Given the description of an element on the screen output the (x, y) to click on. 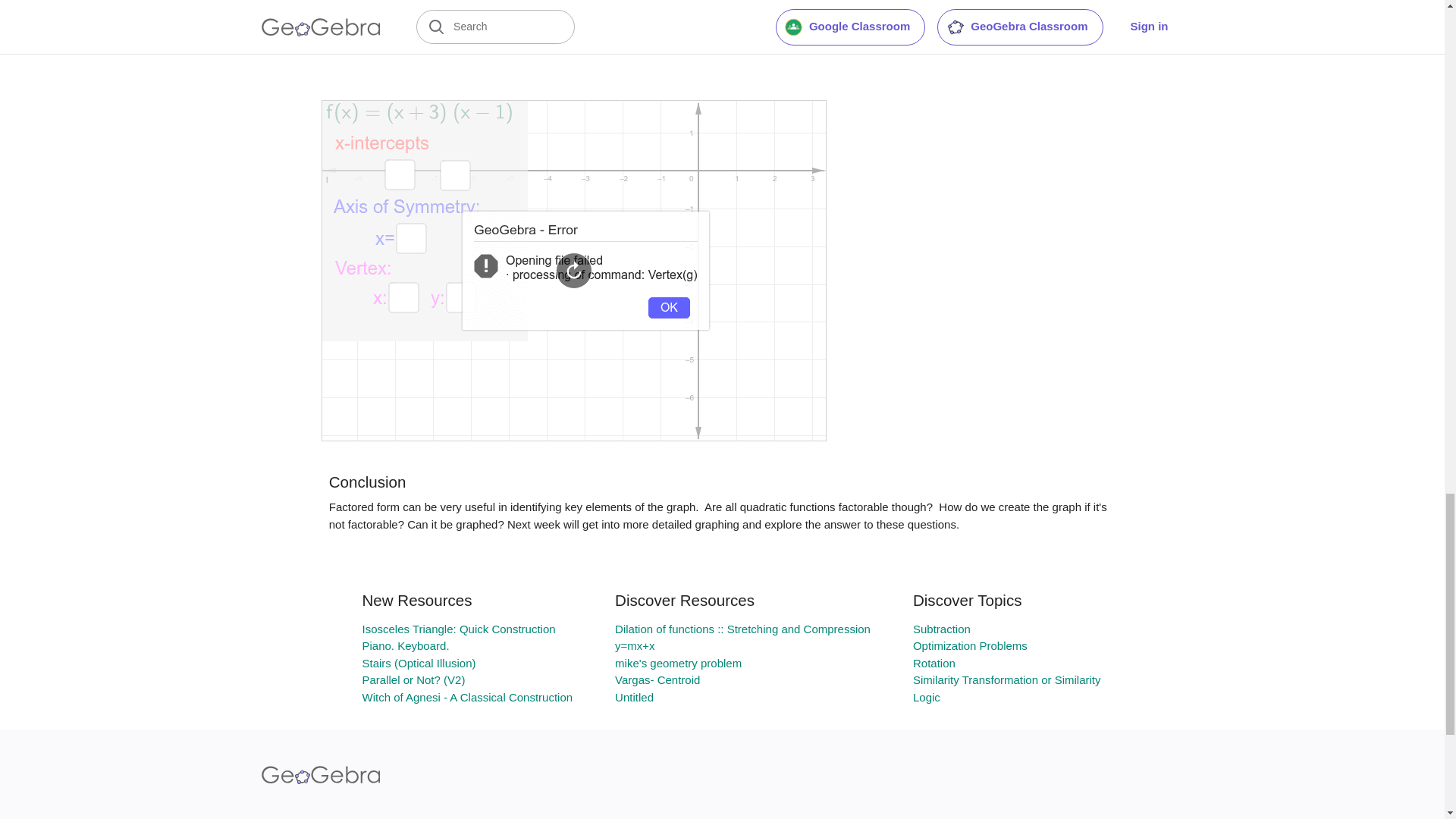
mike's geometry problem (677, 662)
Untitled (633, 697)
Vargas- Centroid (657, 679)
Piano. Keyboard. (404, 645)
Similarity Transformation or Similarity (1006, 679)
Witch of Agnesi - A Classical Construction (466, 697)
Subtraction (941, 628)
Optimization Problems (969, 645)
Dilation of functions :: Stretching and Compression (742, 628)
Logic (926, 697)
Isosceles Triangle: Quick Construction (457, 628)
Rotation (933, 662)
